Given the description of an element on the screen output the (x, y) to click on. 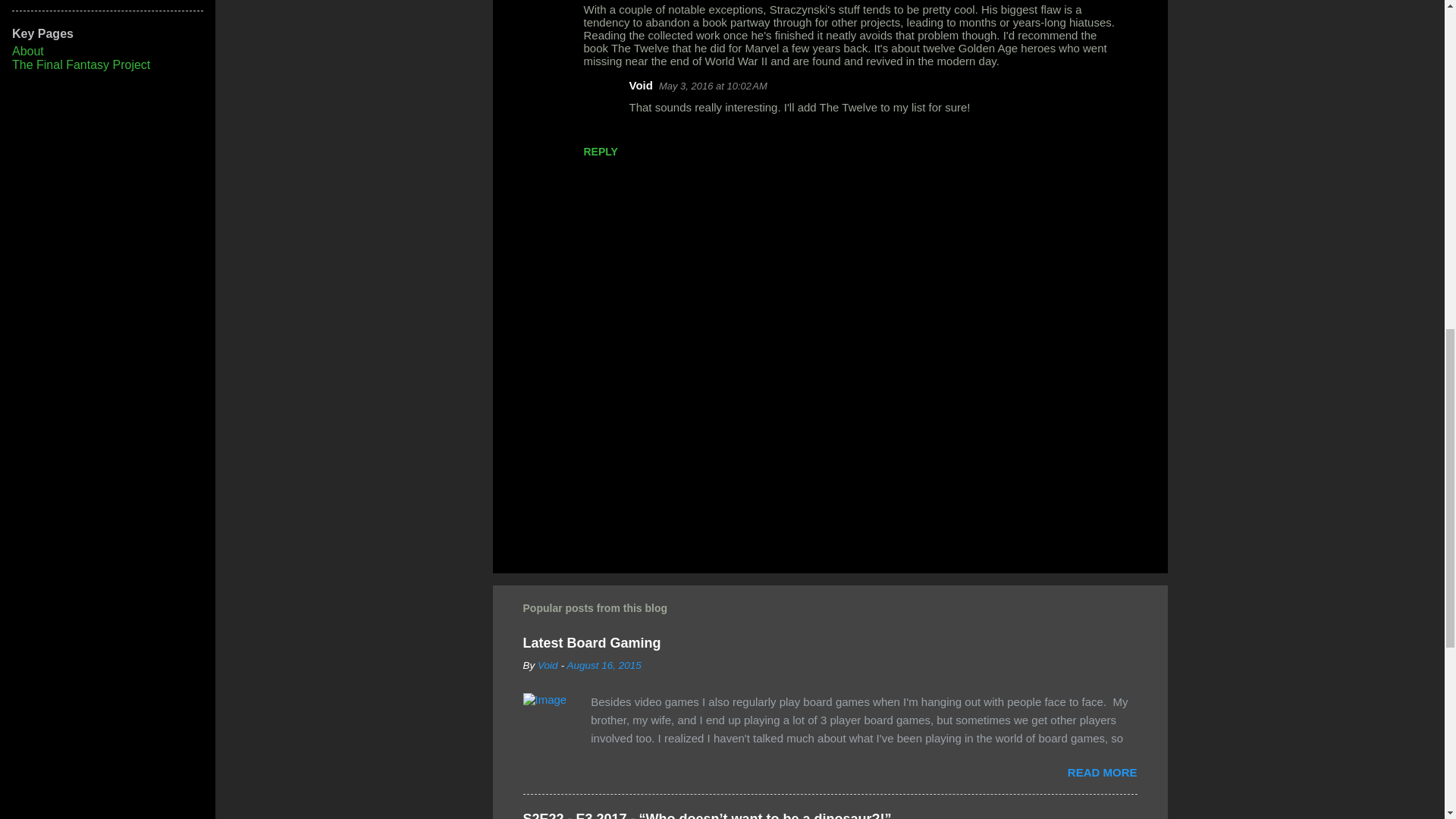
REPLY (600, 151)
Void (547, 665)
Void (640, 84)
August 16, 2015 (603, 665)
author profile (547, 665)
READ MORE (1102, 771)
Latest Board Gaming (591, 642)
